Given the description of an element on the screen output the (x, y) to click on. 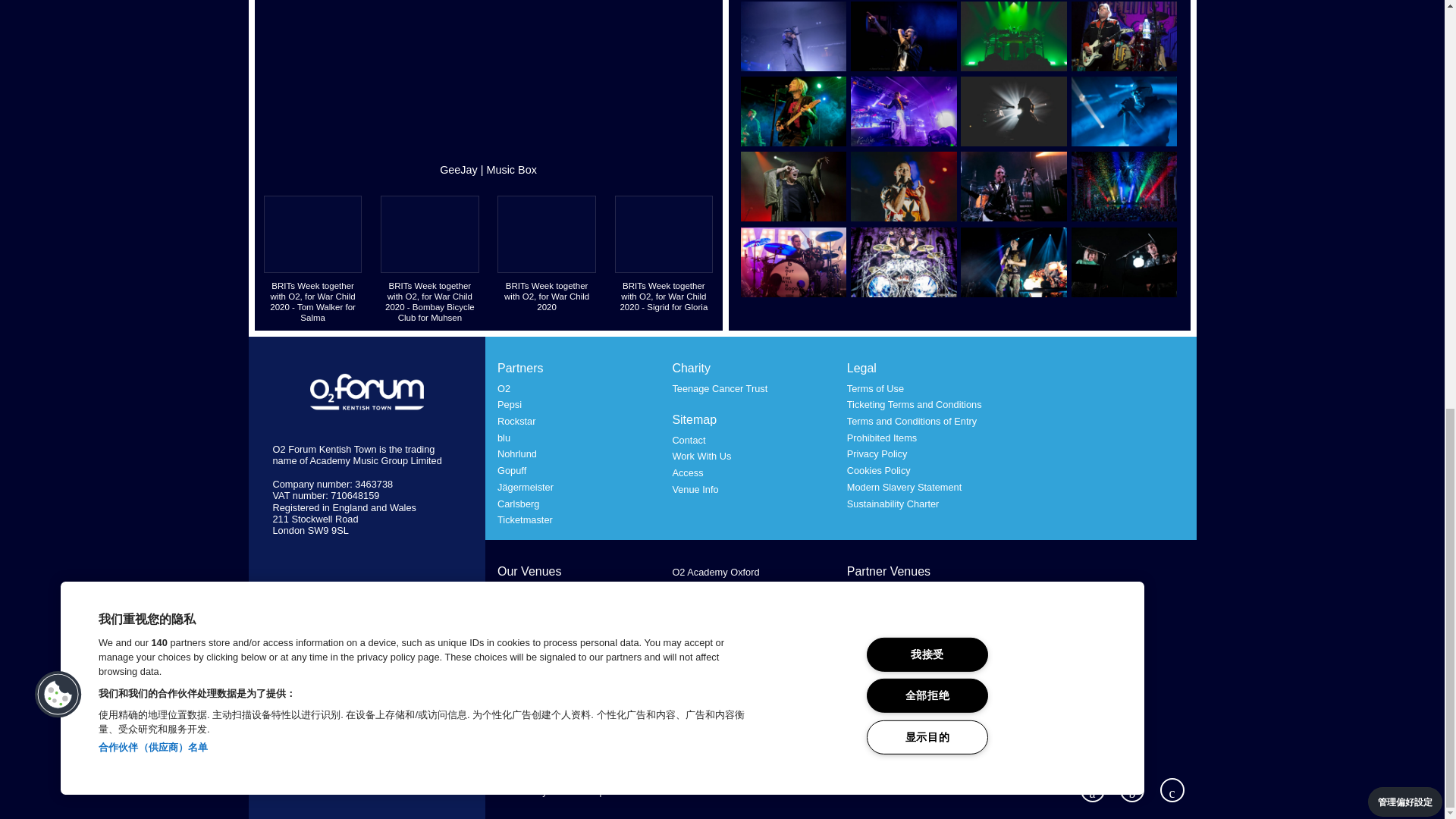
O2 Forum Kentish Town (367, 393)
